Given the description of an element on the screen output the (x, y) to click on. 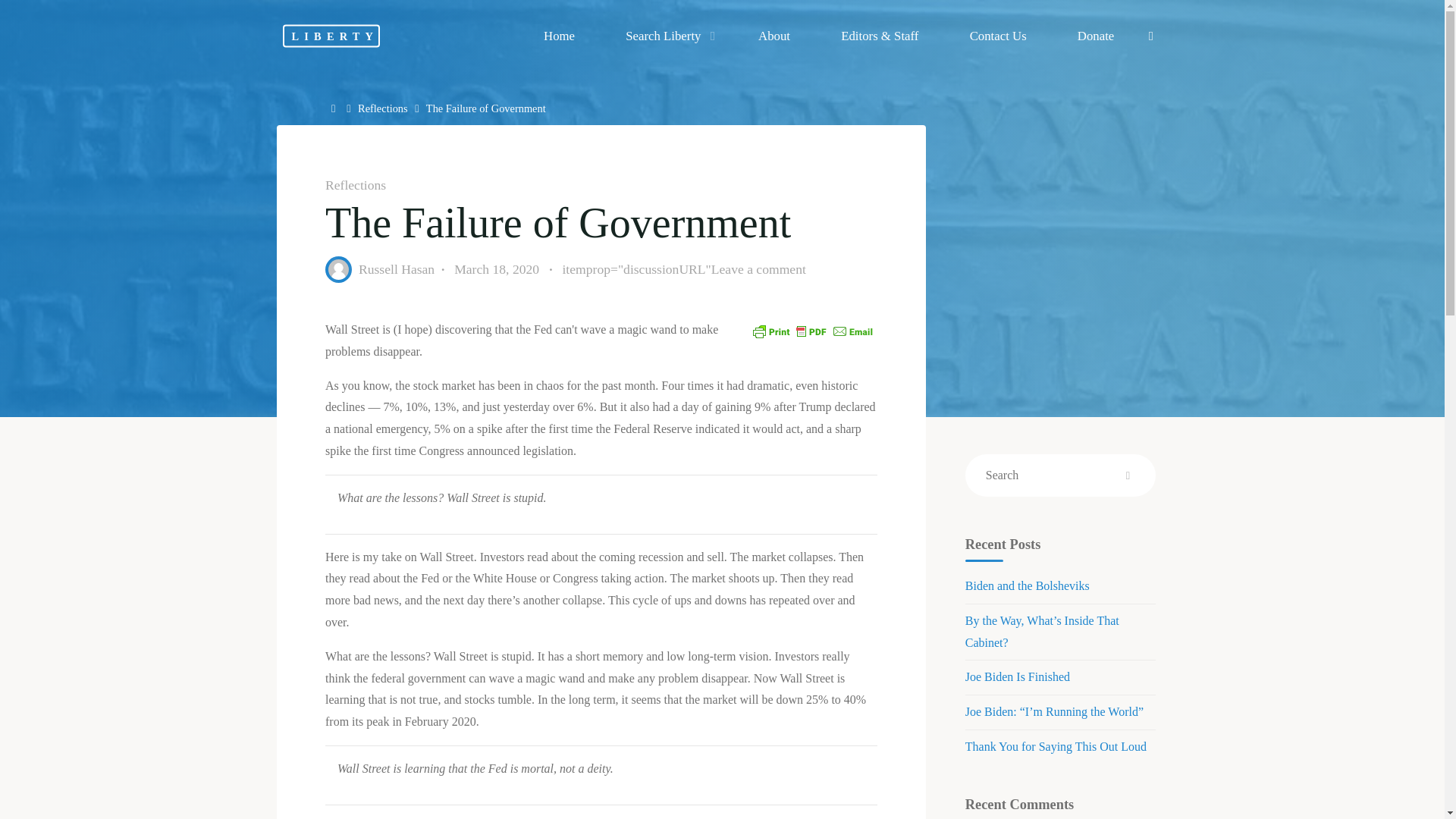
Jump to comments (683, 269)
LIBERTY (331, 35)
Contact Us (997, 35)
About (773, 35)
Donate (1095, 35)
Russell Hasan (395, 268)
Home (558, 35)
Search Liberty (666, 35)
Reflections (382, 108)
Leave a comment (757, 268)
Home (334, 108)
View all posts by Russell Hasan (395, 268)
Home (334, 108)
Reflections (354, 184)
